Given the description of an element on the screen output the (x, y) to click on. 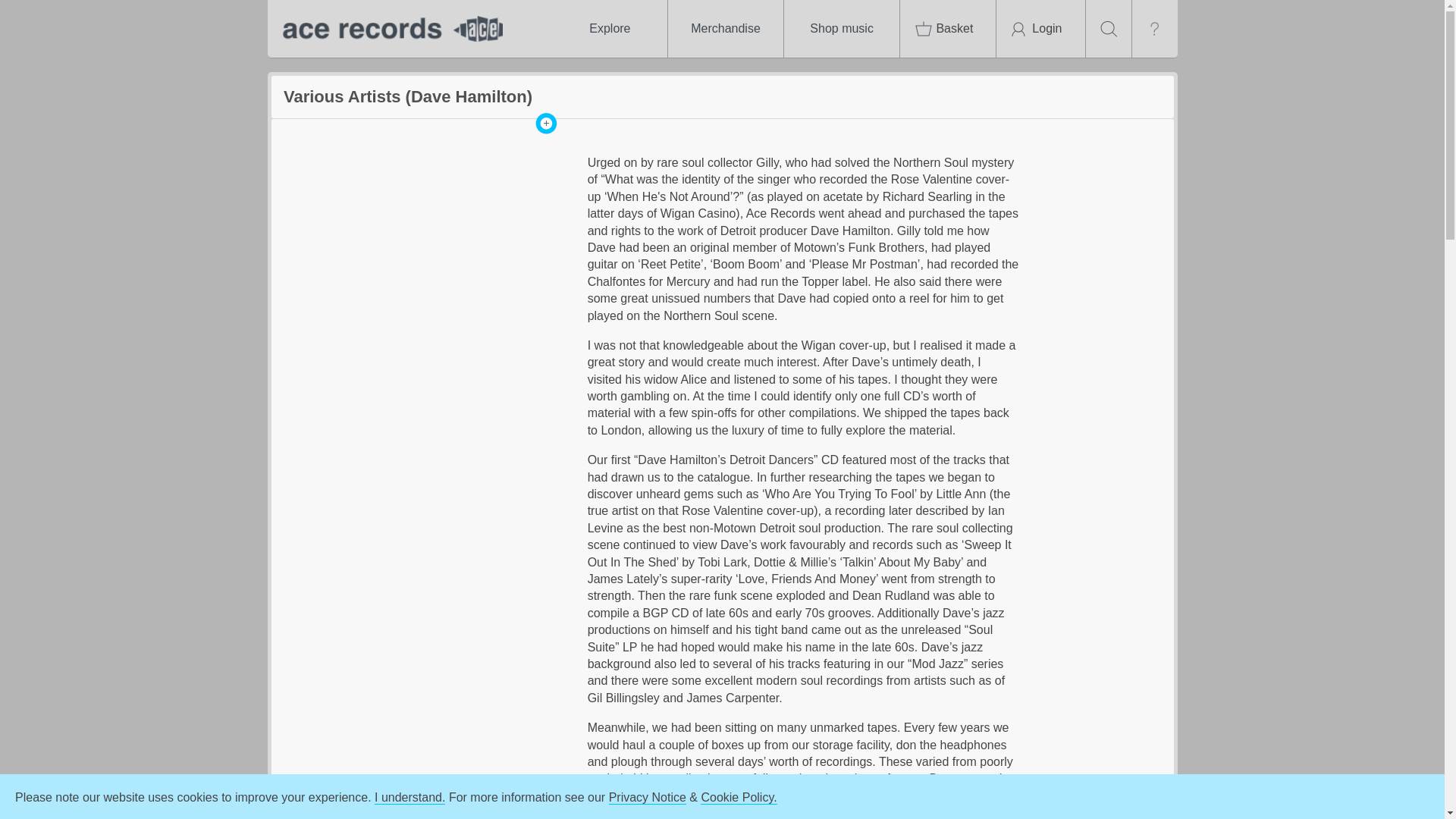
Login (1039, 28)
Merchandise (725, 28)
Basket (947, 28)
Explore (609, 28)
Shop music (841, 28)
Ace Records (388, 28)
